Given the description of an element on the screen output the (x, y) to click on. 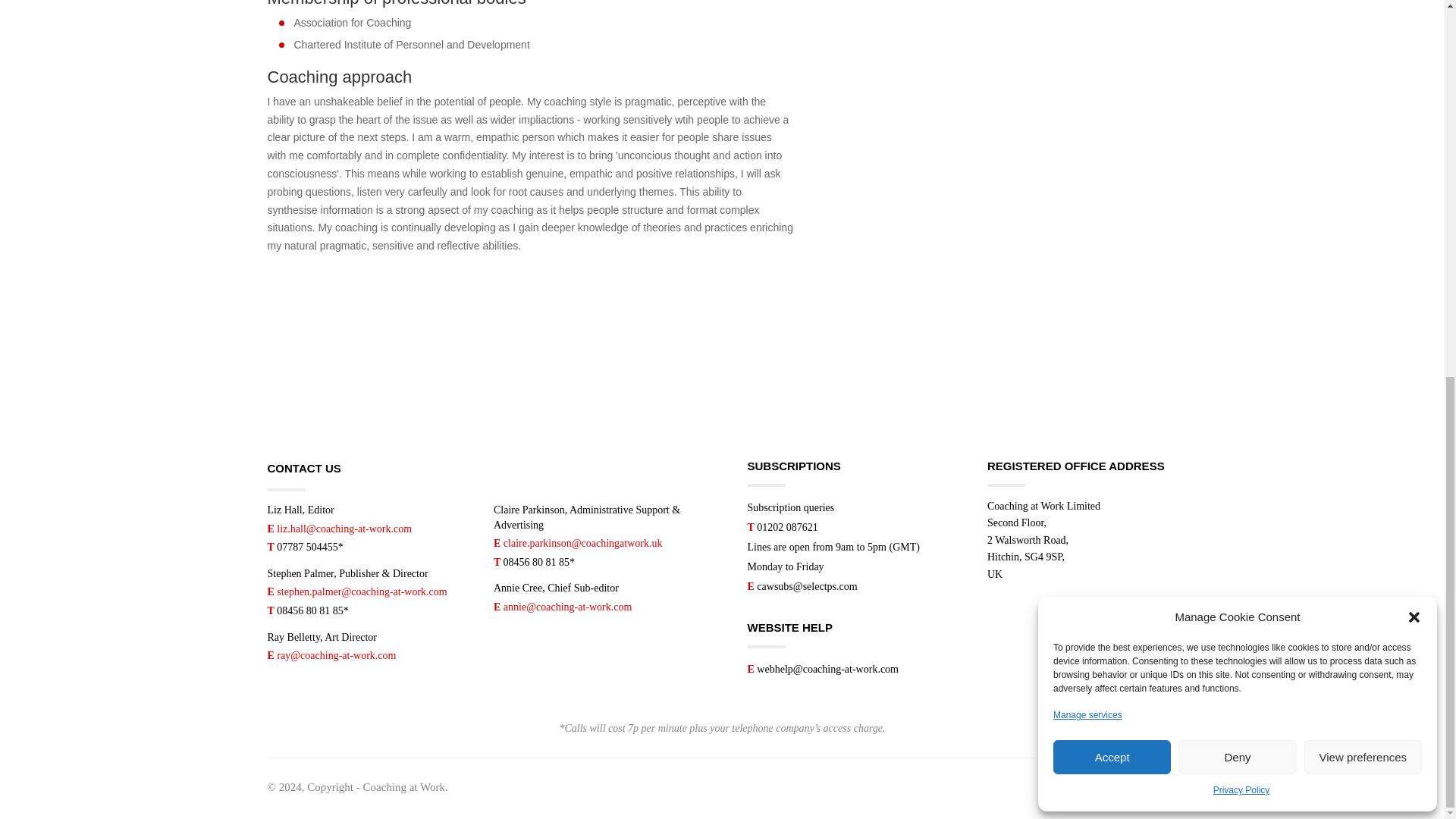
Accept (1111, 61)
View preferences (1363, 61)
Privacy Policy (1240, 95)
Manage services (1087, 20)
Deny (1236, 61)
